Given the description of an element on the screen output the (x, y) to click on. 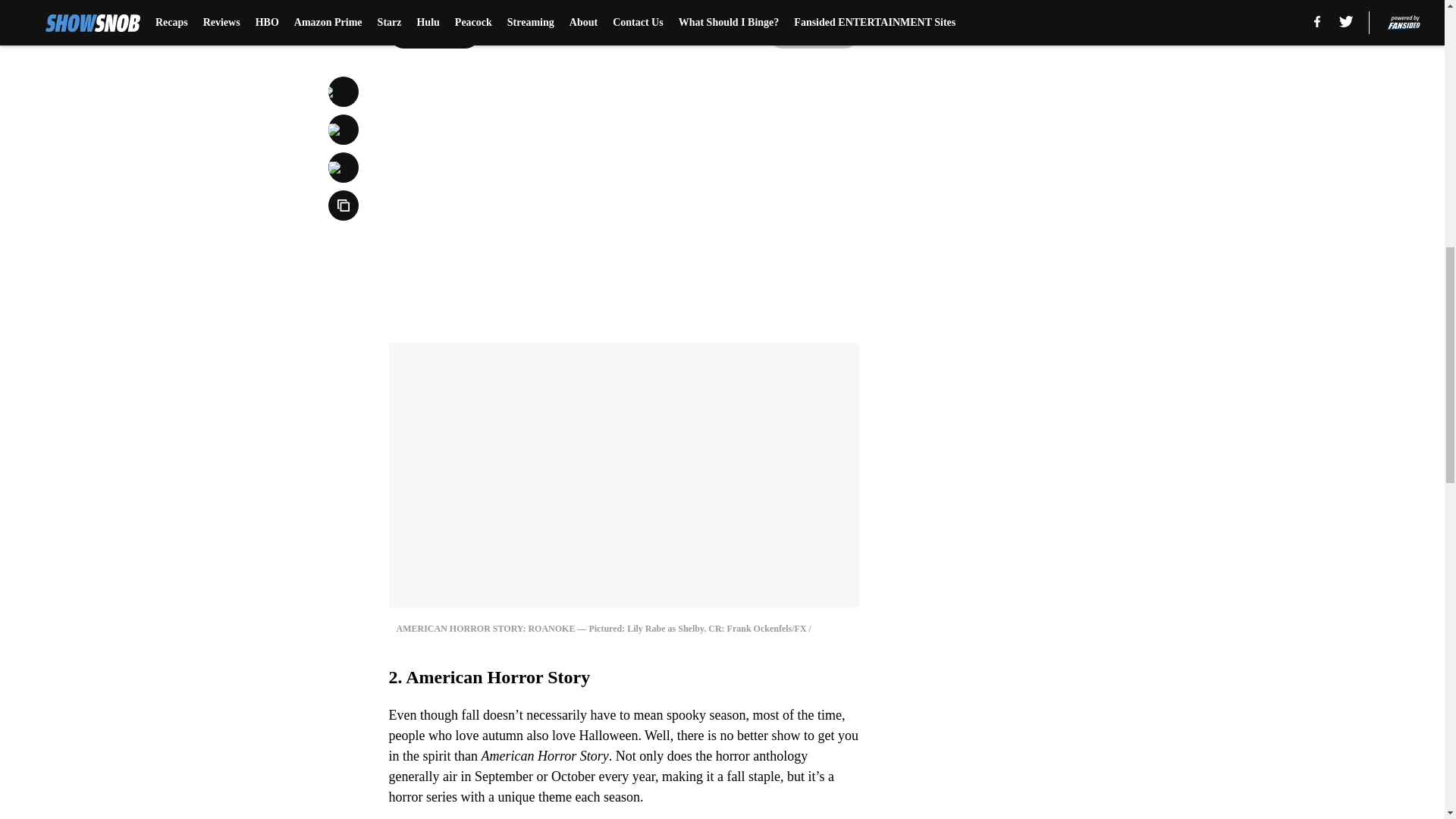
Next (813, 33)
Prev (433, 33)
